Given the description of an element on the screen output the (x, y) to click on. 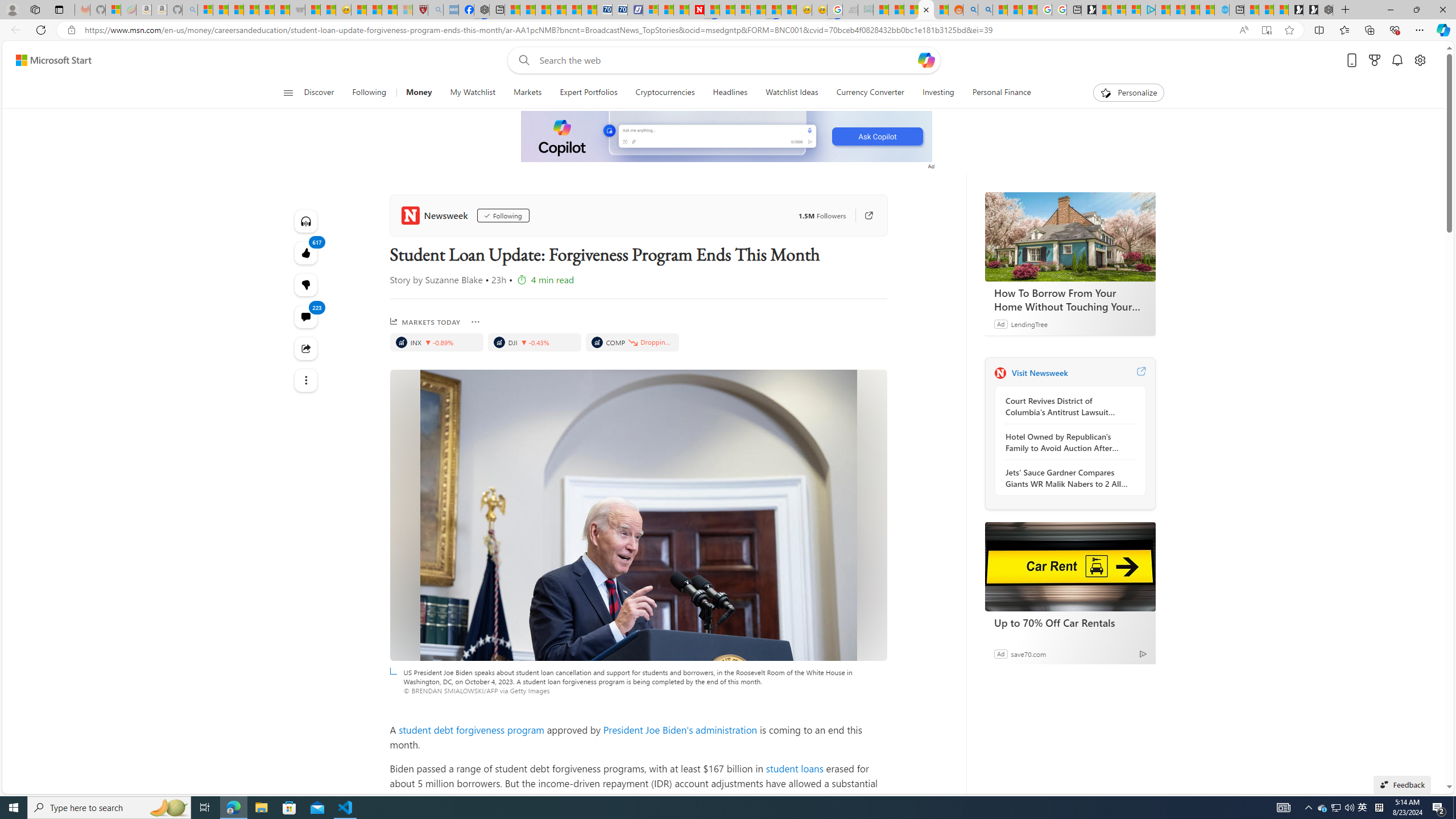
Up to 70% Off Car Rentals (1070, 566)
Watchlist Ideas (792, 92)
